Given the description of an element on the screen output the (x, y) to click on. 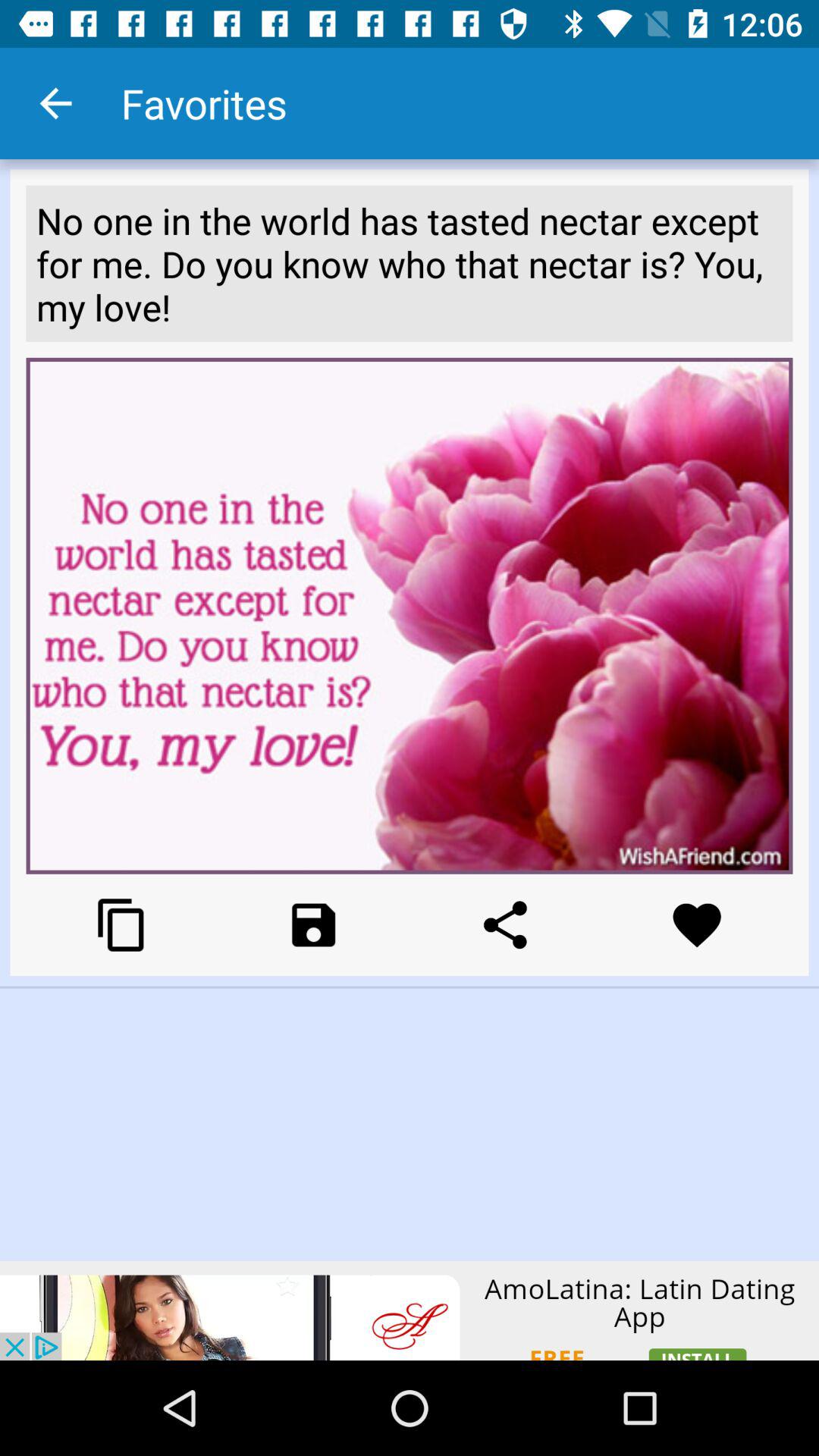
open the box (313, 925)
